Given the description of an element on the screen output the (x, y) to click on. 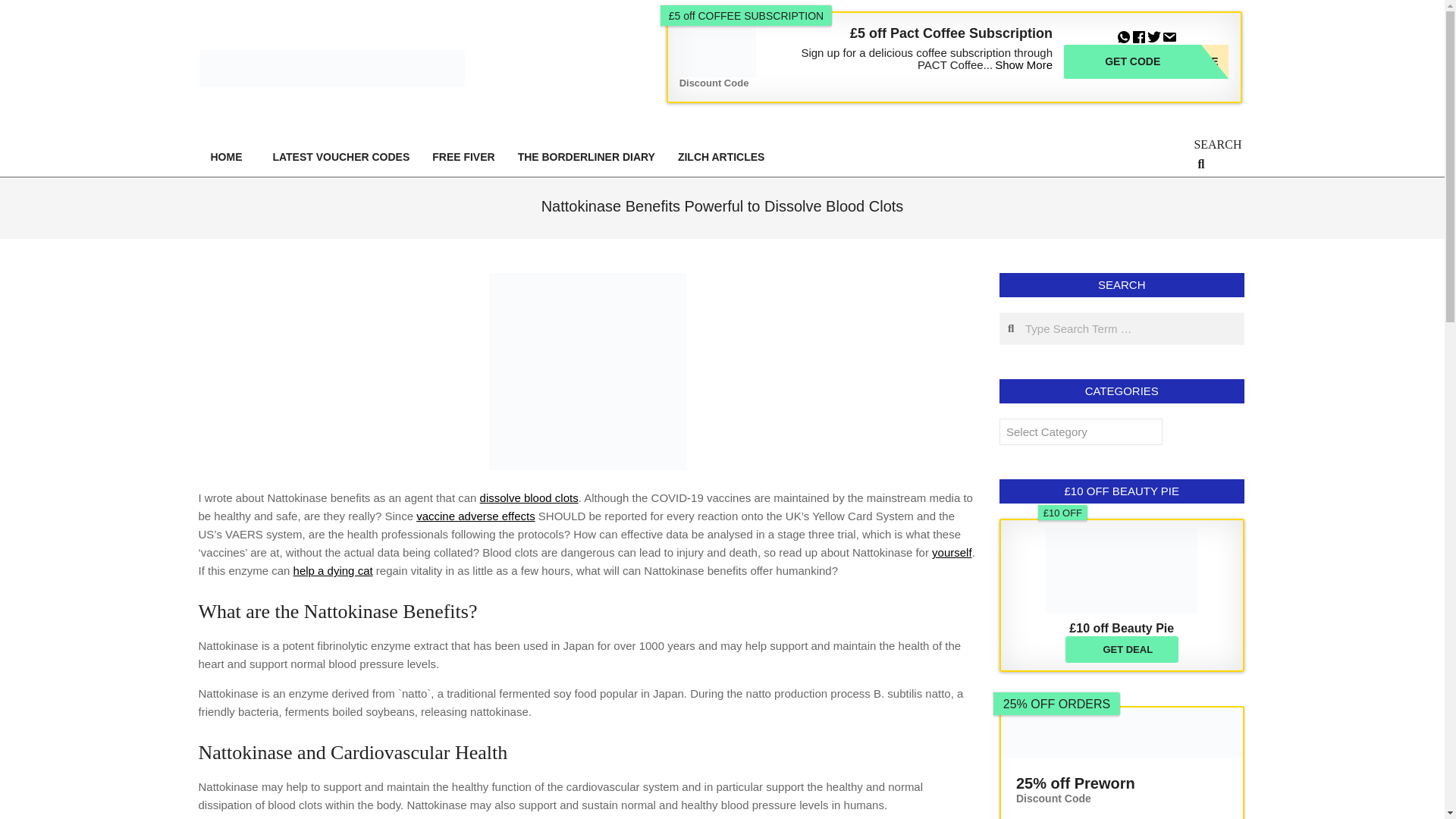
yourself (1146, 61)
Share by email (951, 552)
Share by facebook (1168, 34)
THE BORDERLINER DIARY (1139, 34)
Search (586, 156)
GET CODE (21, 8)
ZILCH ARTICLES (1146, 61)
LATEST VOUCHER CODES (721, 156)
vaccine adverse effects (340, 156)
Share by whatsapp (475, 515)
HOME (1123, 34)
FREE FIVER (229, 156)
help a dying cat (462, 156)
